Given the description of an element on the screen output the (x, y) to click on. 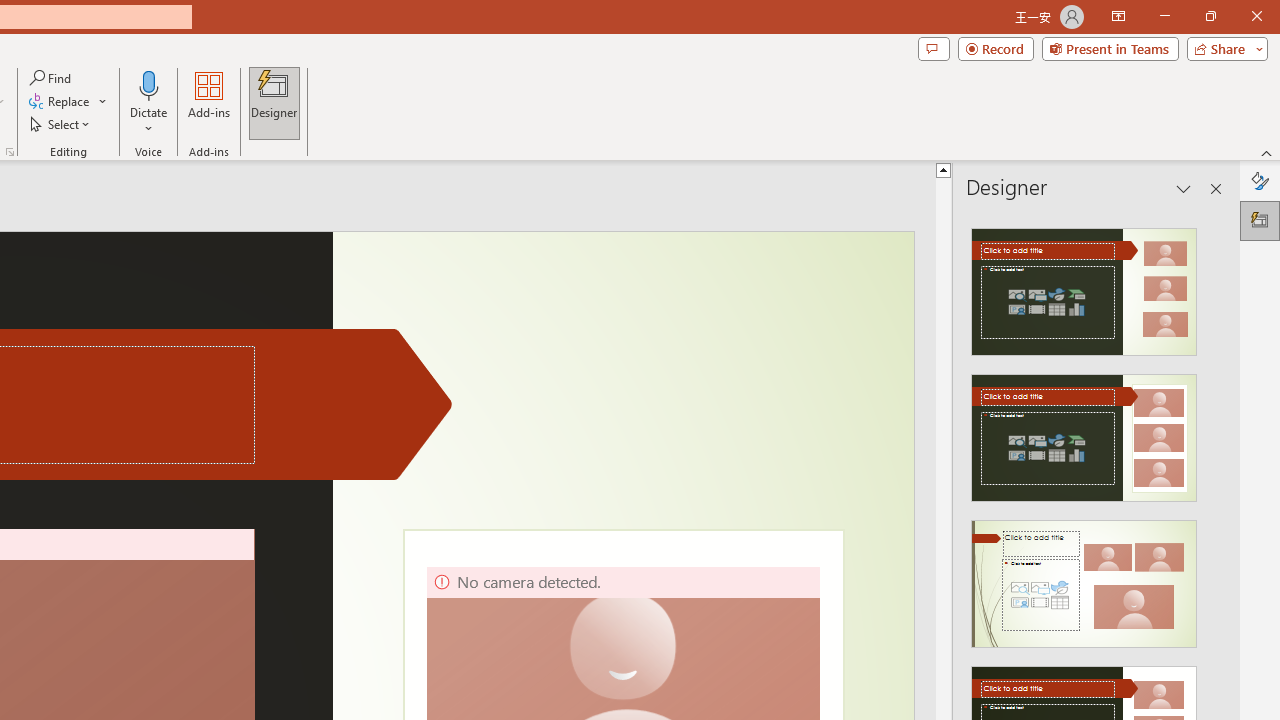
Close (1256, 16)
Close pane (1215, 188)
Ribbon Display Options (1118, 16)
Designer (1260, 220)
Design Idea (1083, 577)
Collapse the Ribbon (1267, 152)
Replace... (68, 101)
Minimize (1164, 16)
Select (61, 124)
Format Background (1260, 180)
More Options (149, 121)
Restore Down (1210, 16)
Comments (933, 48)
Dictate (149, 102)
Line up (943, 169)
